Given the description of an element on the screen output the (x, y) to click on. 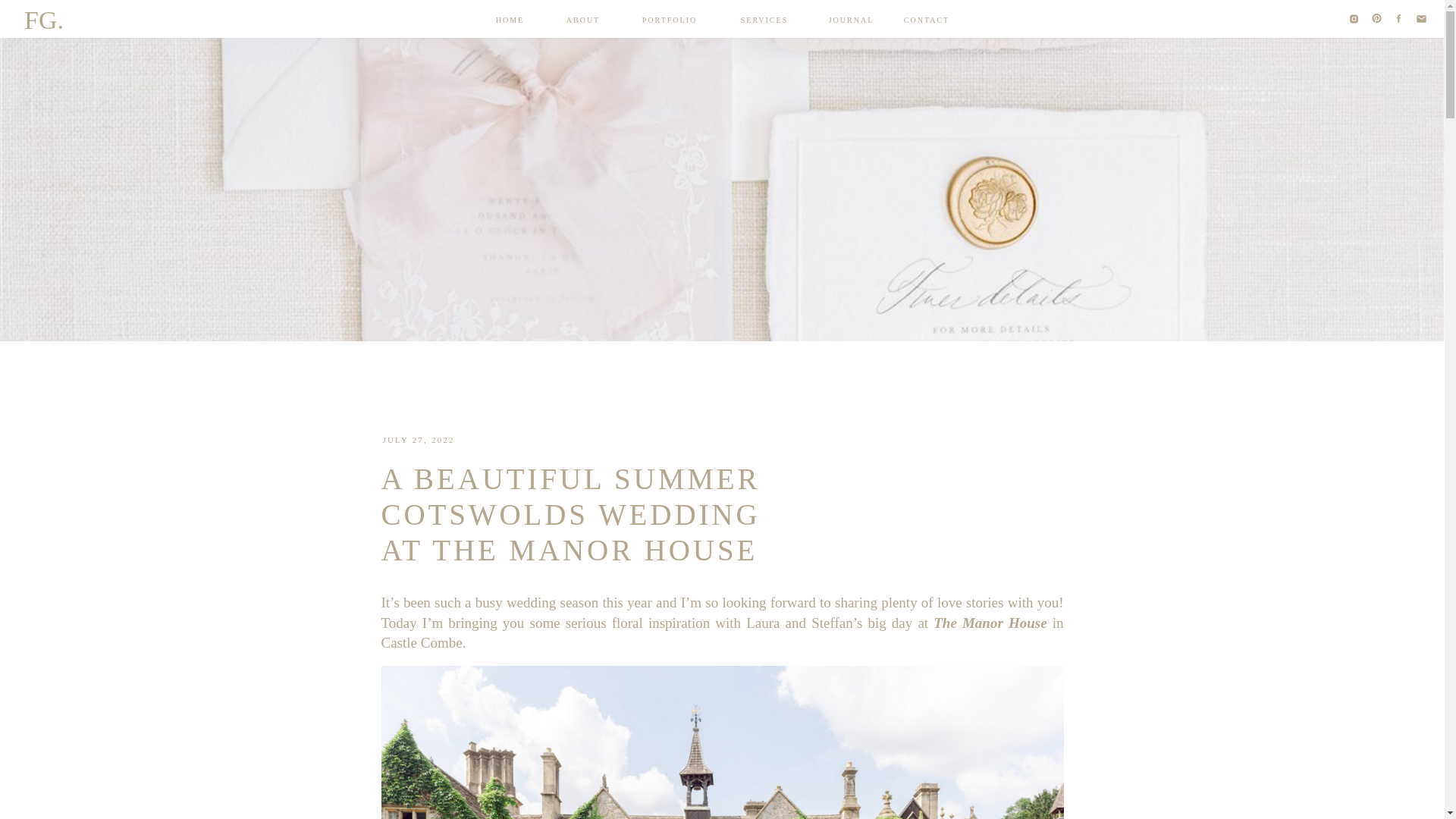
JOURNAL (851, 20)
CONTACT (927, 20)
The Manor House (989, 622)
ABOUT (583, 20)
HOME (509, 20)
FG. (46, 20)
SERVICES (763, 20)
PORTFOLIO (669, 20)
